Given the description of an element on the screen output the (x, y) to click on. 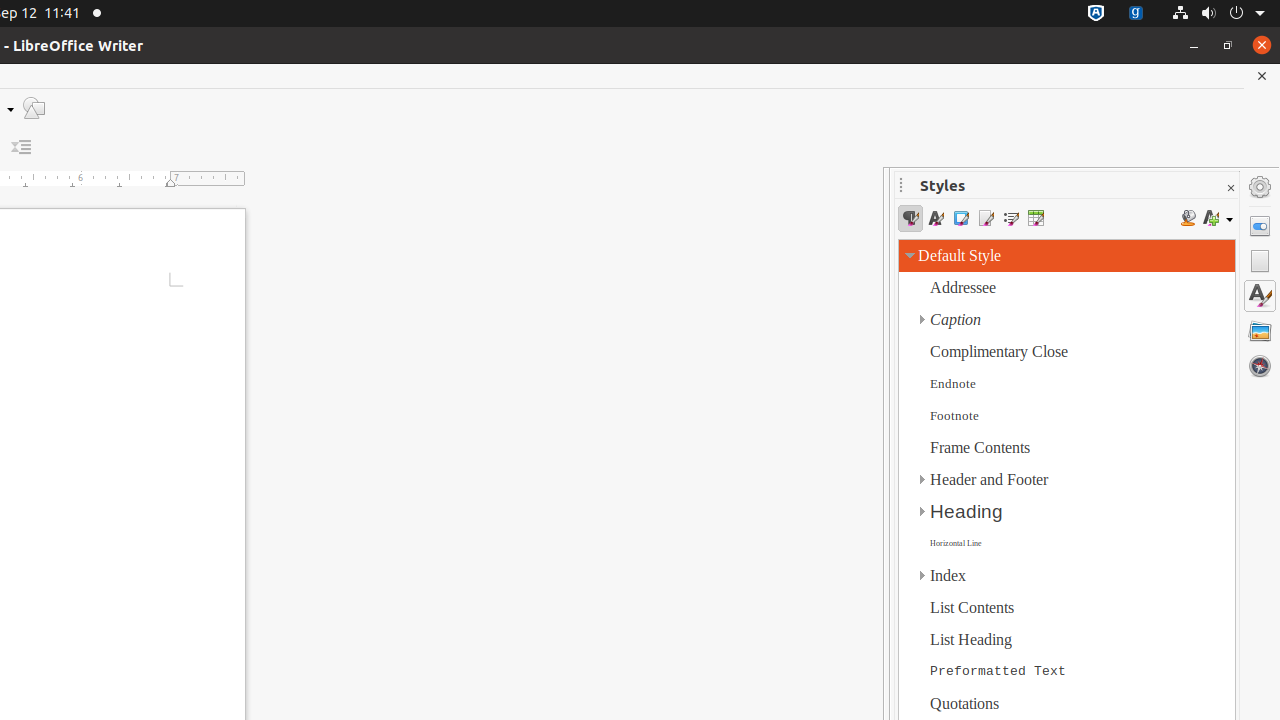
Gallery Element type: radio-button (1260, 331)
Close Sidebar Deck Element type: push-button (1230, 188)
Styles Element type: radio-button (1260, 296)
Frame Styles Element type: push-button (960, 218)
org.kde.StatusNotifierItem-14077-1 Element type: menu (1136, 13)
